Given the description of an element on the screen output the (x, y) to click on. 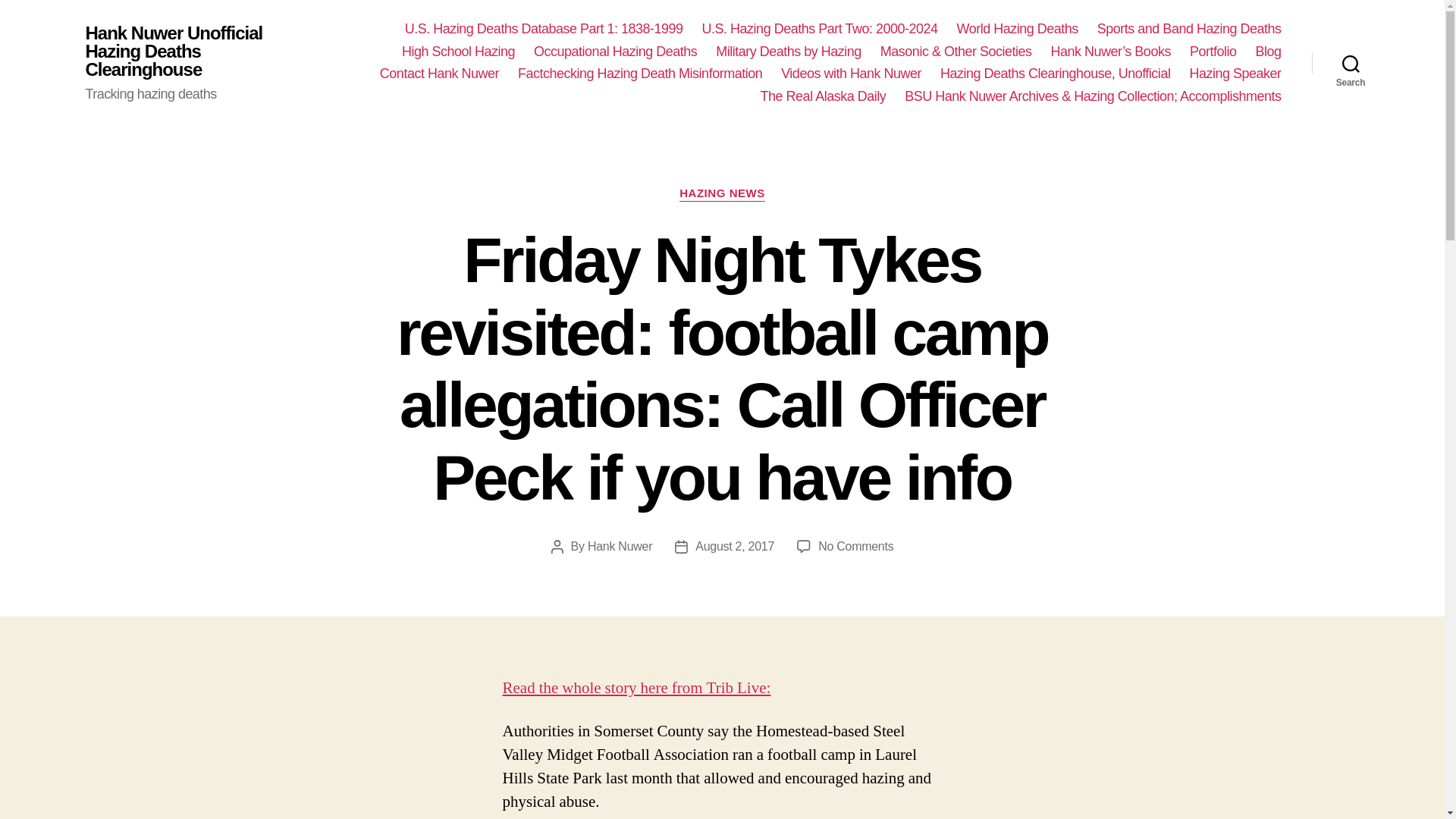
Factchecking Hazing Death Misinformation (639, 74)
Videos with Hank Nuwer (850, 74)
High School Hazing (458, 52)
Portfolio (1212, 52)
Occupational Hazing Deaths (615, 52)
Blog (1268, 52)
U.S. Hazing Deaths Database Part 1: 1838-1999 (543, 29)
Contact Hank Nuwer (439, 74)
Hank Nuwer Unofficial Hazing Deaths Clearinghouse (175, 51)
U.S. Hazing Deaths Part Two: 2000-2024 (819, 29)
